Given the description of an element on the screen output the (x, y) to click on. 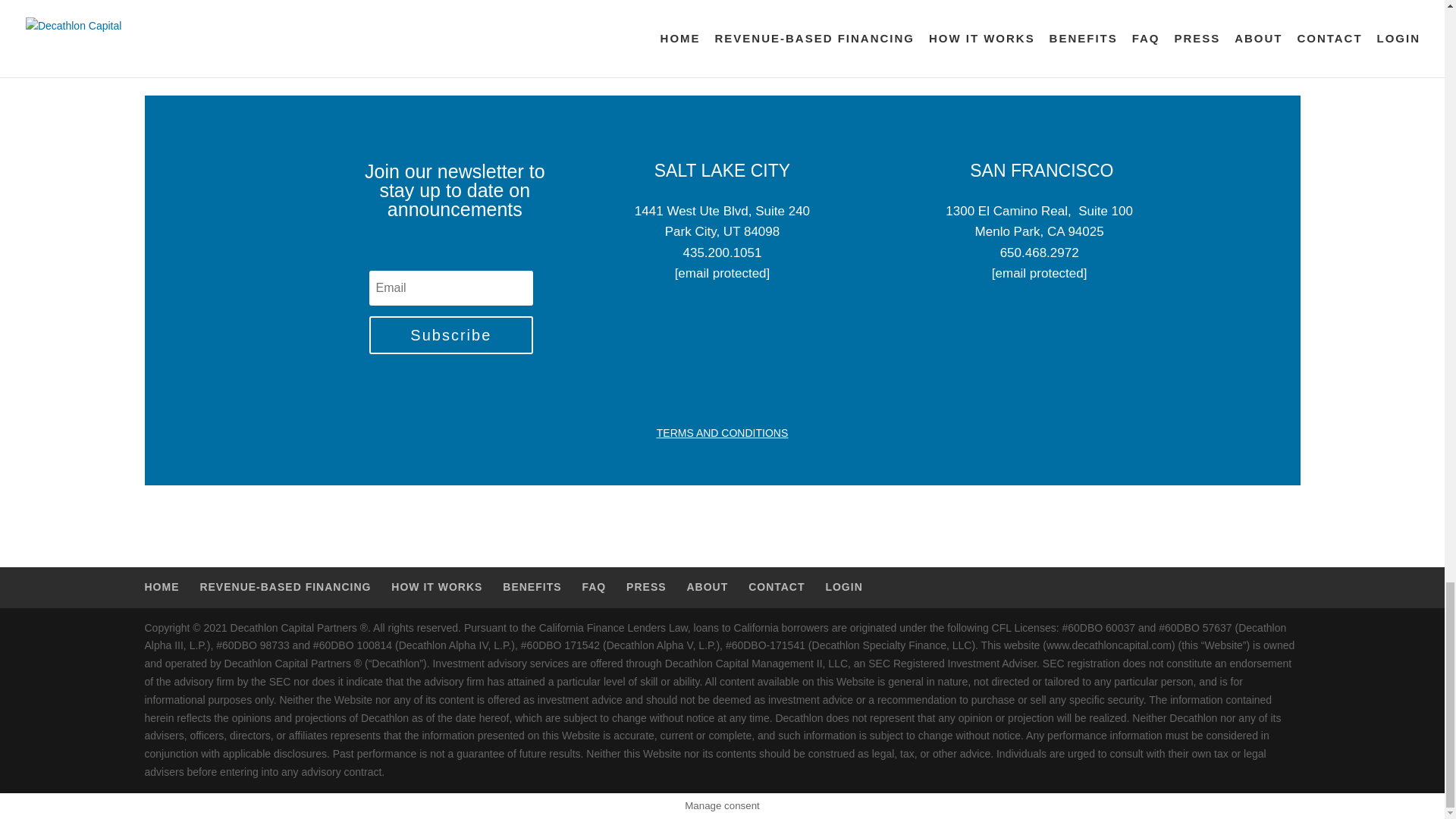
TERMS AND CONDITIONS (721, 432)
REVENUE-BASED FINANCING (285, 586)
Subscribe (450, 334)
HOW IT WORKS (436, 586)
HOME (161, 586)
LOGIN (843, 586)
BENEFITS (531, 586)
Engage with Us (722, 7)
FAQ (592, 586)
PRESS (645, 586)
